Given the description of an element on the screen output the (x, y) to click on. 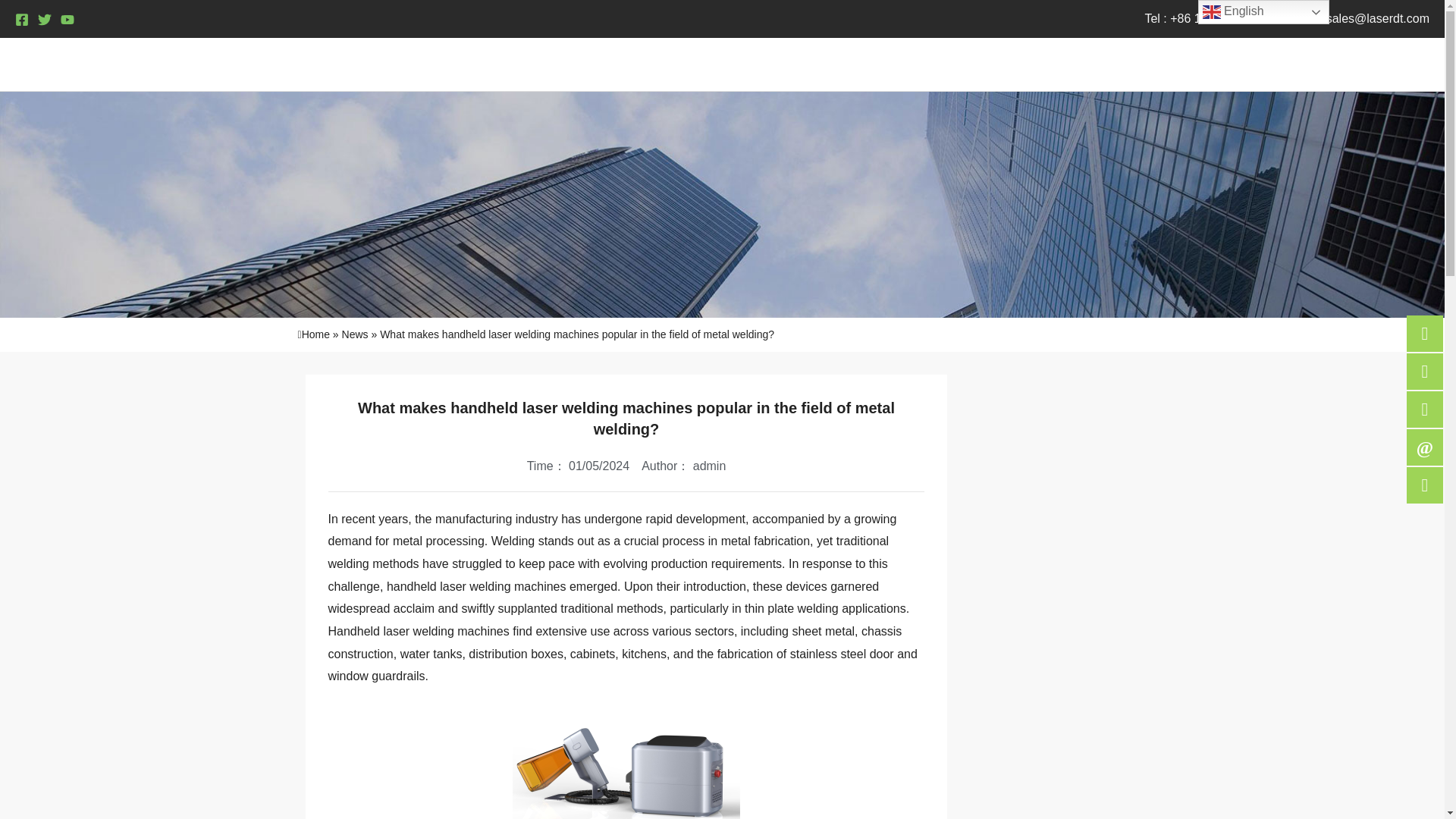
Products (1073, 63)
Contact Us (1329, 63)
VR (1404, 63)
News (1245, 63)
Home (987, 63)
About Us (1168, 63)
